Given the description of an element on the screen output the (x, y) to click on. 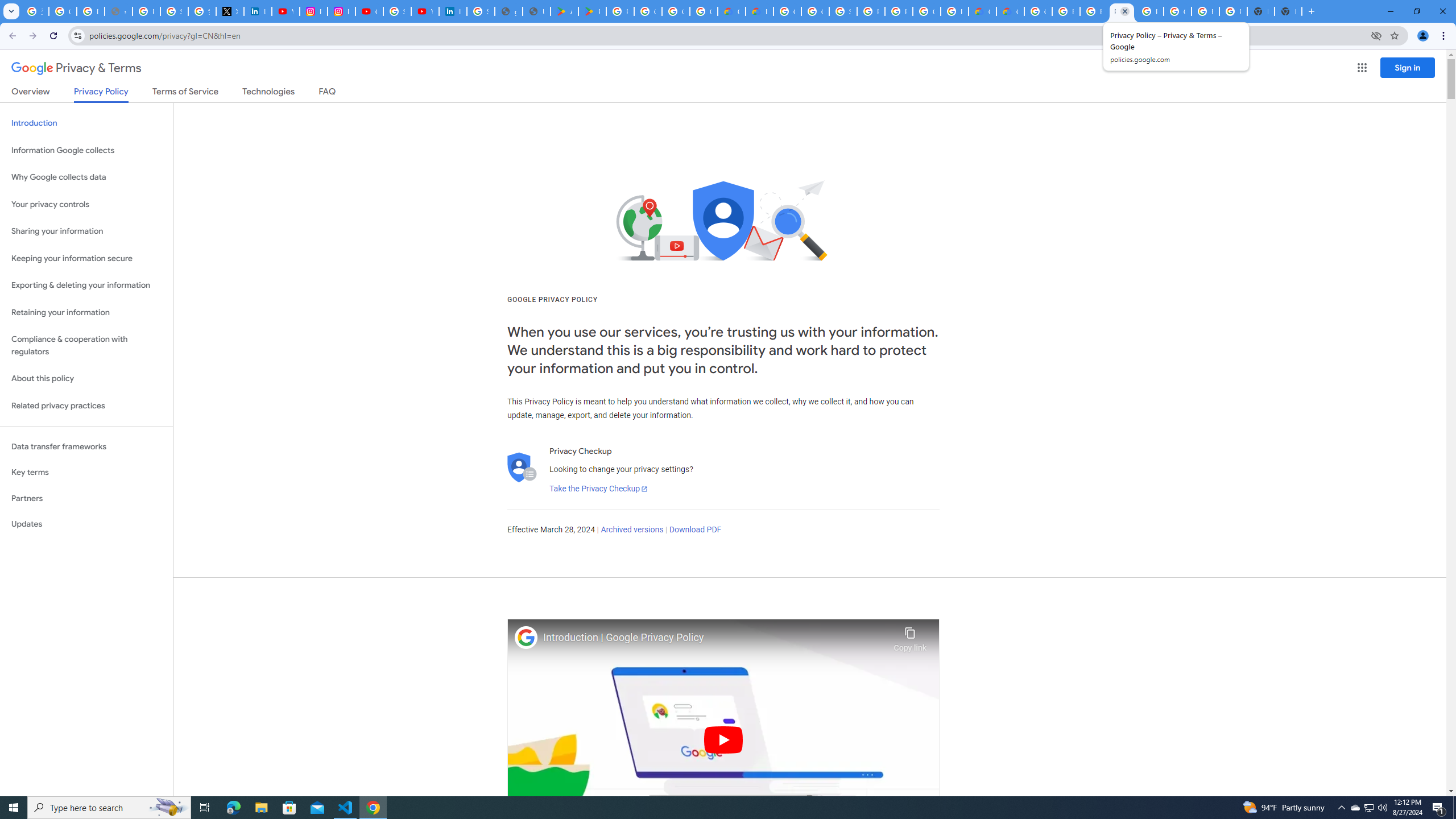
About this policy (86, 379)
Photo image of Google (526, 636)
Browse Chrome as a guest - Computer - Google Chrome Help (1065, 11)
Sign in - Google Accounts (842, 11)
Privacy Help Center - Policies Help (146, 11)
LinkedIn Privacy Policy (257, 11)
New Tab (1288, 11)
support.google.com - Network error (118, 11)
